Given the description of an element on the screen output the (x, y) to click on. 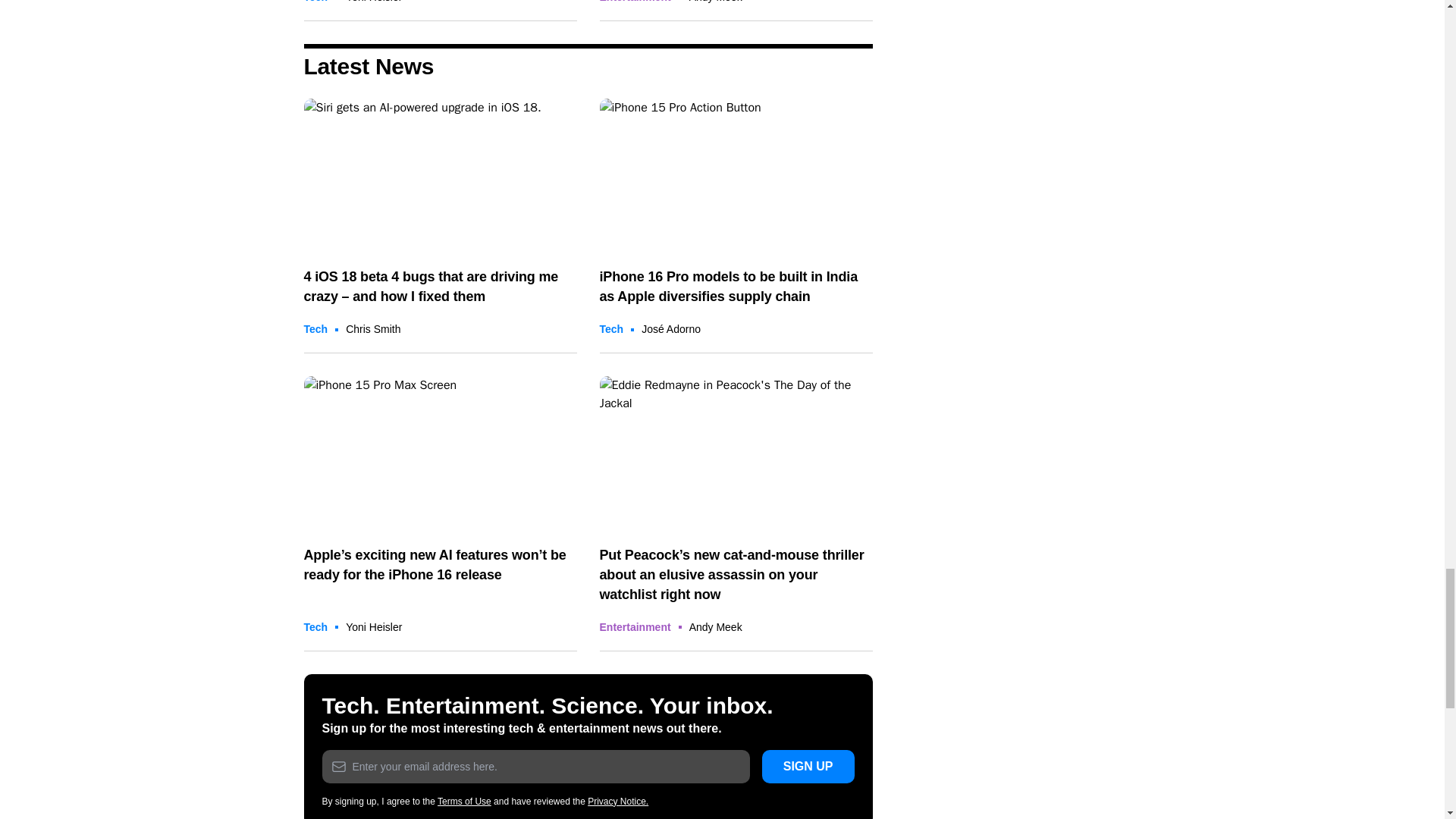
Posts by Yoni Heisler (373, 1)
Posts by Andy Meek (715, 1)
Posts by Yoni Heisler (373, 626)
Posts by Andy Meek (715, 626)
Peacock (735, 452)
Posts by Chris Smith (373, 328)
iOS 18 beta 4 (439, 175)
